Given the description of an element on the screen output the (x, y) to click on. 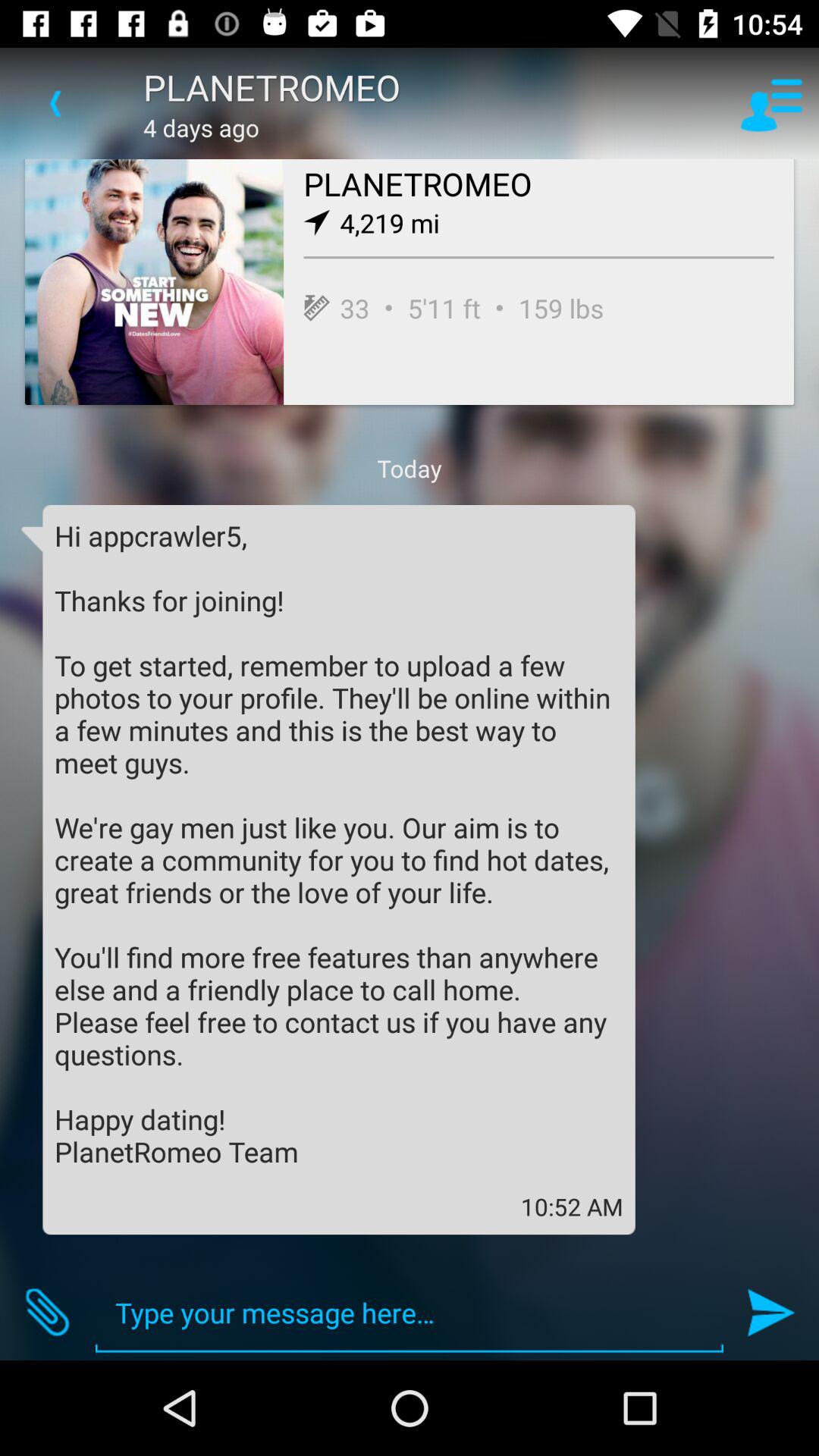
turn on icon at the top right corner (771, 103)
